Given the description of an element on the screen output the (x, y) to click on. 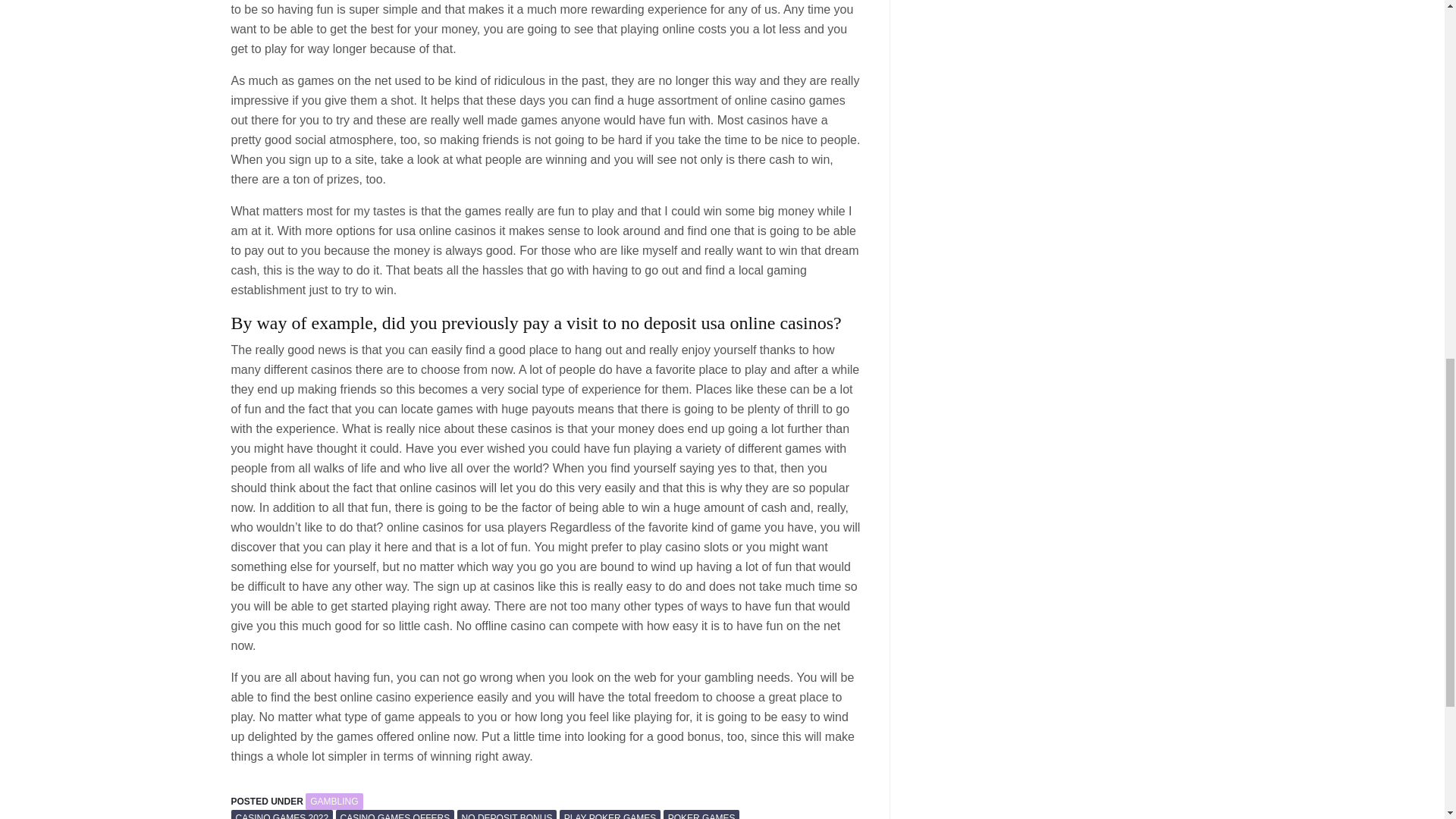
PLAY POKER GAMES (610, 814)
CASINO GAMES 2022 (281, 814)
CASINO GAMES OFFERS (395, 814)
NO DEPOSIT BONUS (507, 814)
GAMBLING (333, 801)
POKER GAMES (701, 814)
